Given the description of an element on the screen output the (x, y) to click on. 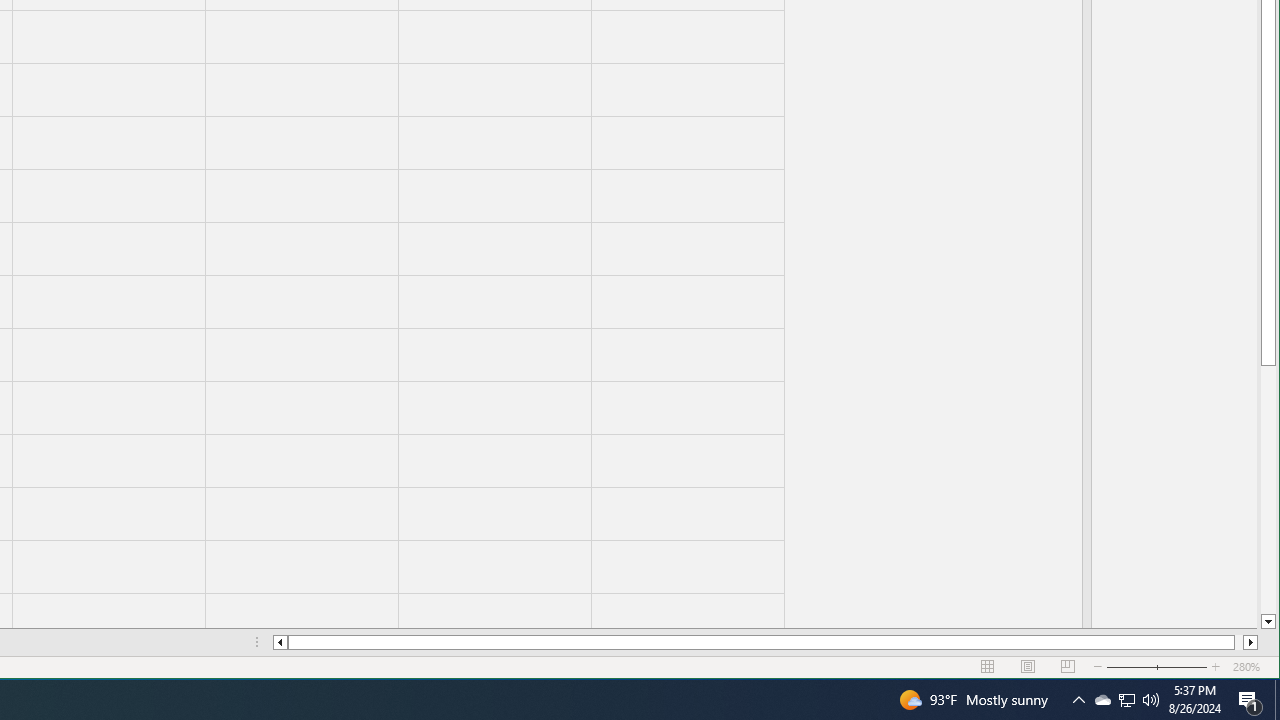
Notification Chevron (1078, 699)
